Given the description of an element on the screen output the (x, y) to click on. 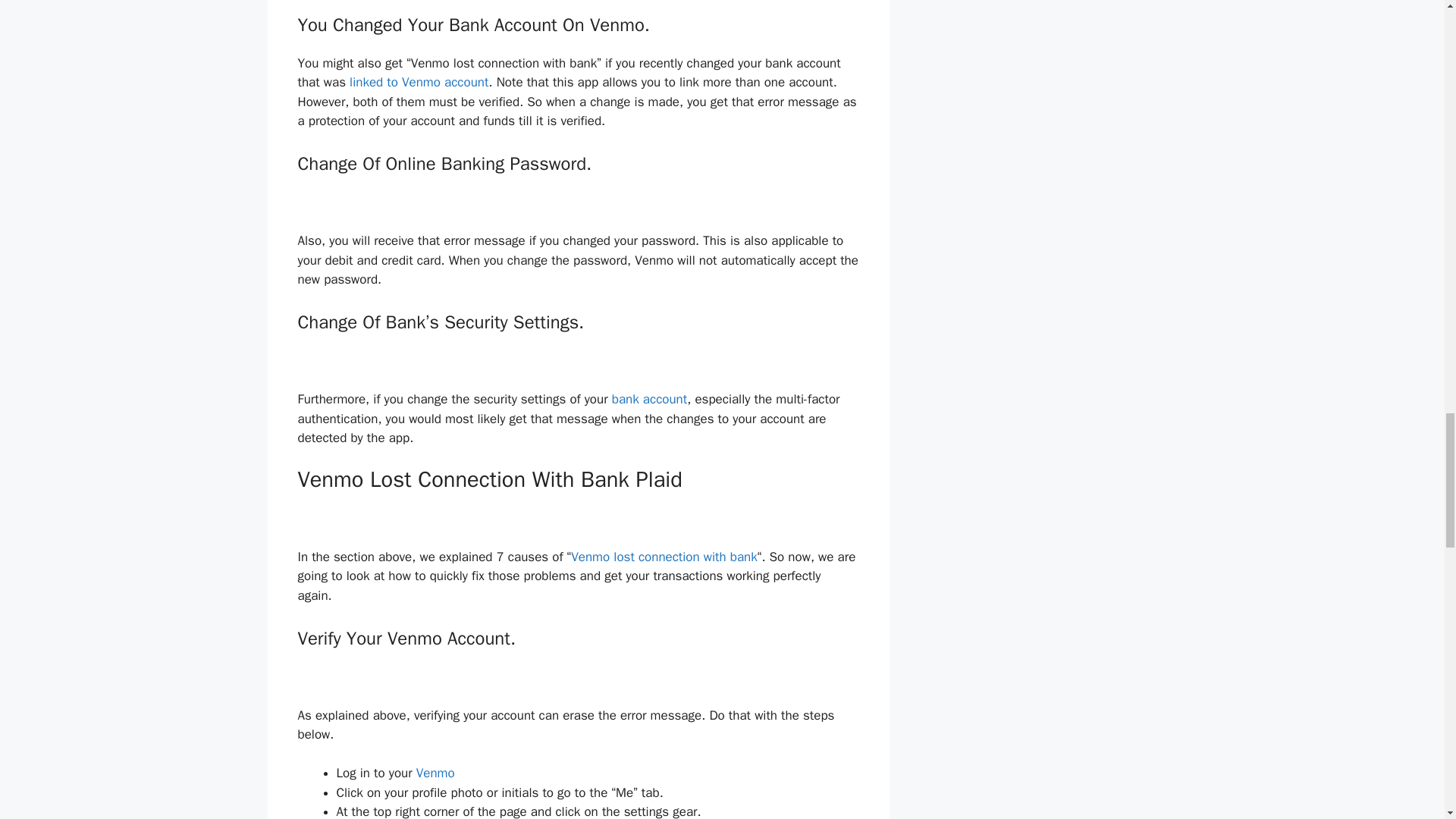
Venmo (435, 772)
linked to Venmo account (418, 82)
Venmo lost connection with bank (663, 556)
bank account (649, 399)
